Given the description of an element on the screen output the (x, y) to click on. 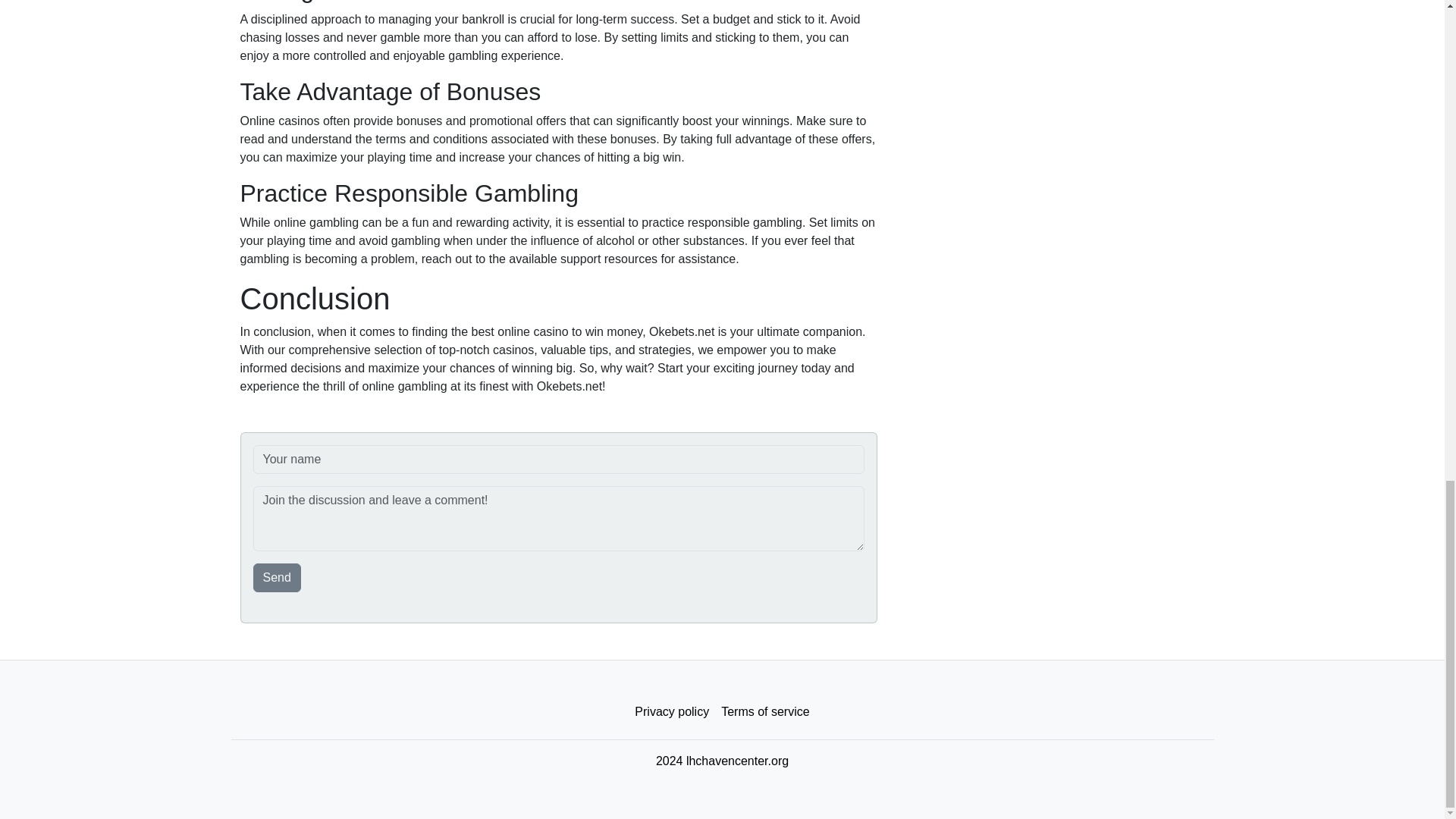
Privacy policy (671, 711)
Send (277, 577)
Terms of service (764, 711)
Send (277, 577)
